Given the description of an element on the screen output the (x, y) to click on. 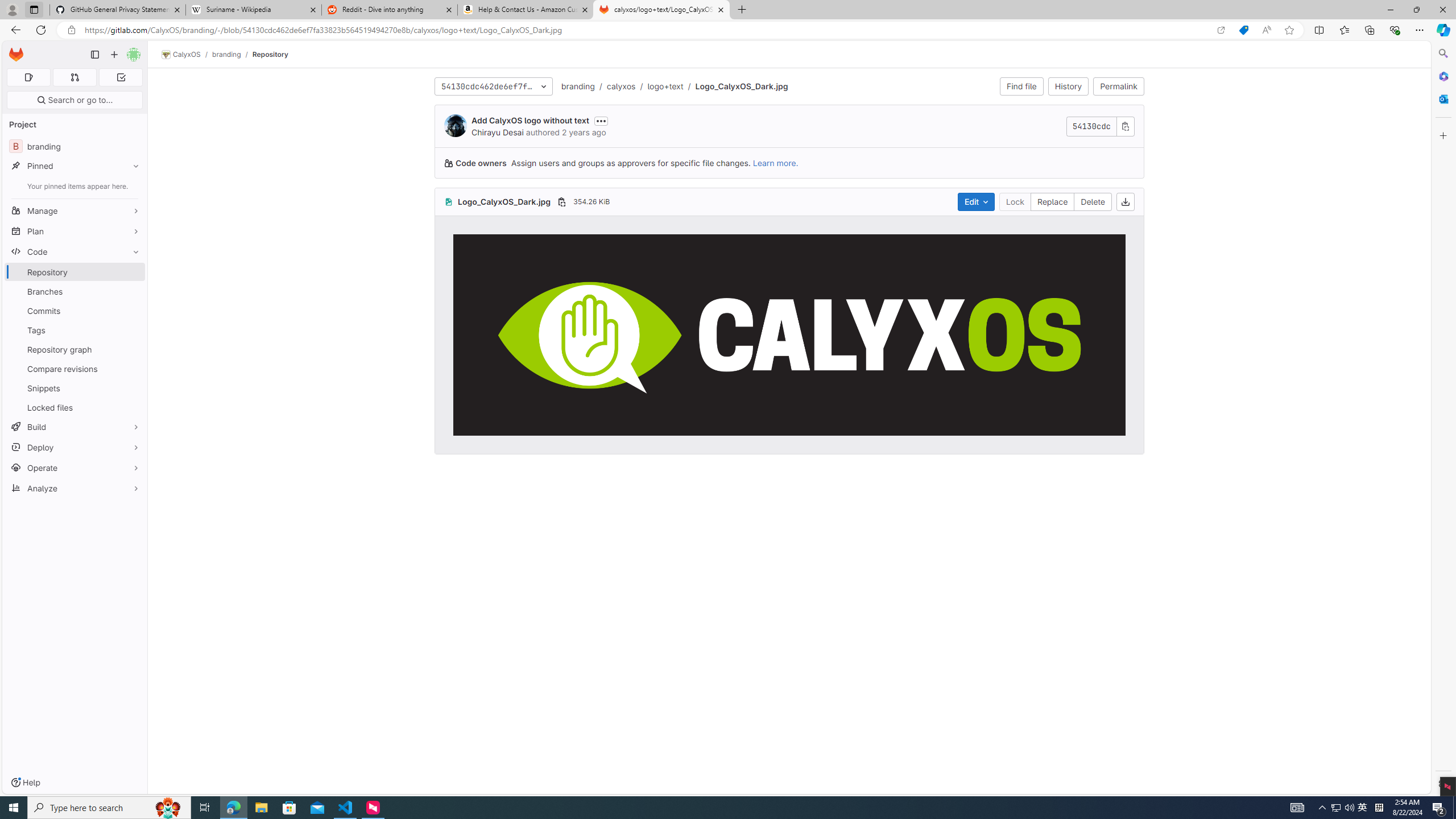
Add CalyxOS logo without text (530, 120)
Learn more. (774, 162)
Commits (74, 310)
Logo_CalyxOS_Dark.jpg (788, 334)
branding (578, 85)
Primary navigation sidebar (94, 54)
Chirayu Desai's avatar (455, 125)
/calyxos (615, 85)
Pin Commits (132, 310)
Delete (1093, 201)
logo+text (665, 85)
Pin Repository graph (132, 349)
